Given the description of an element on the screen output the (x, y) to click on. 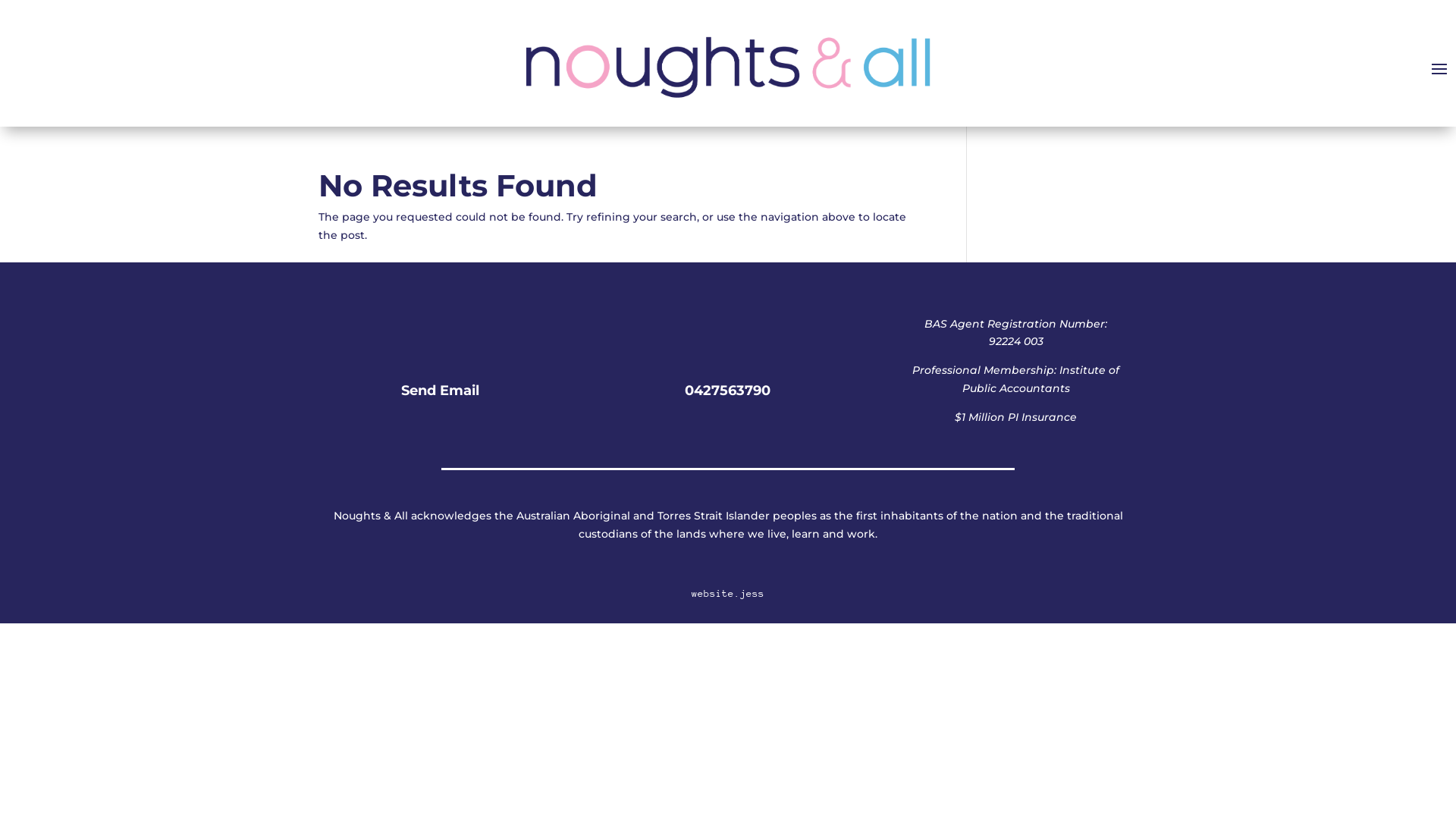
0427563790 Element type: text (727, 390)
Send Email Element type: text (440, 390)
Noughts and All Logo Element type: hover (727, 66)
